Given the description of an element on the screen output the (x, y) to click on. 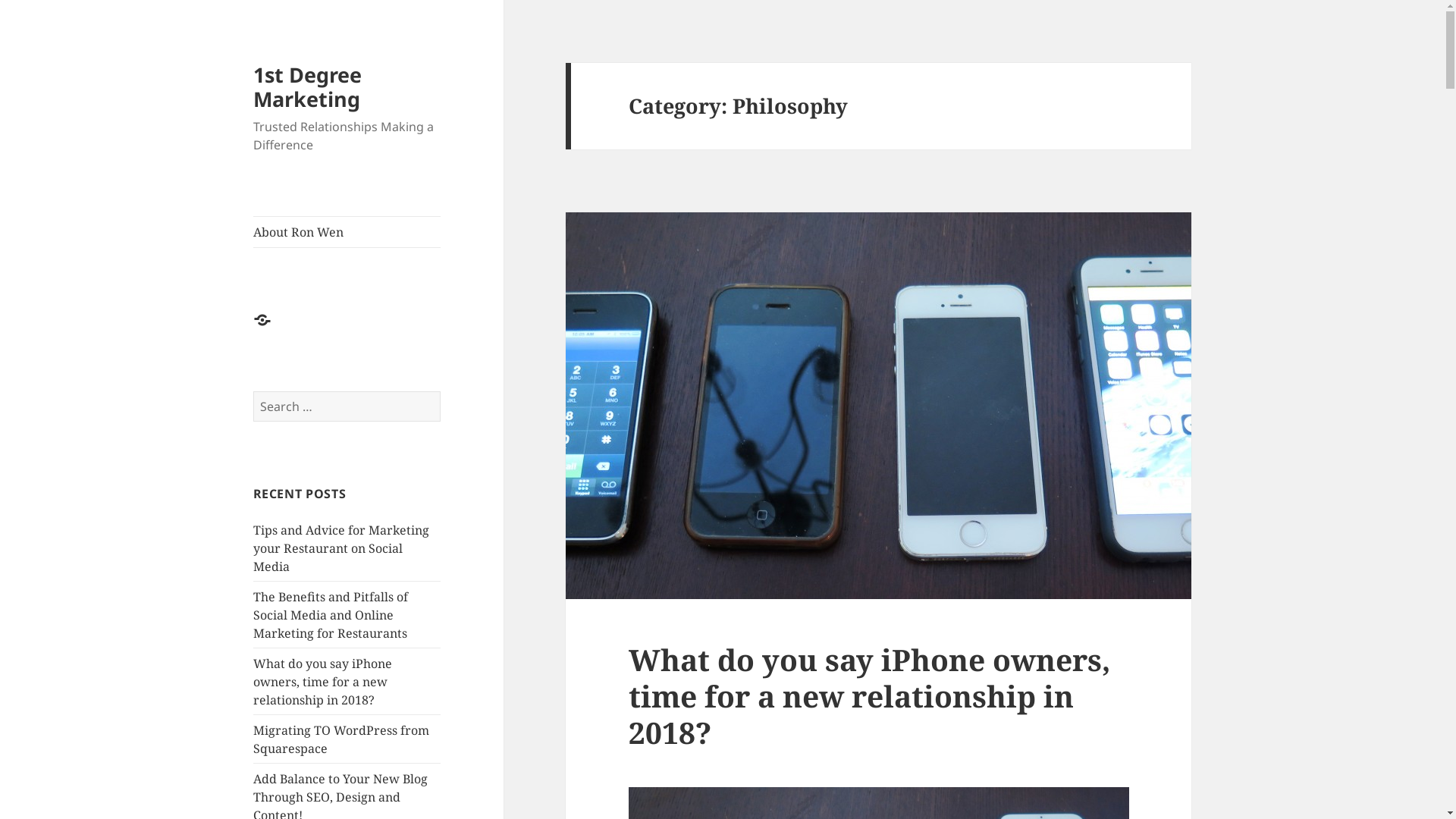
About Ron Wen Element type: text (271, 328)
1st Degree Marketing Element type: text (307, 86)
Migrating TO WordPress from Squarespace Element type: text (341, 738)
Search Element type: text (440, 391)
About Ron Wen Element type: text (347, 231)
